Given the description of an element on the screen output the (x, y) to click on. 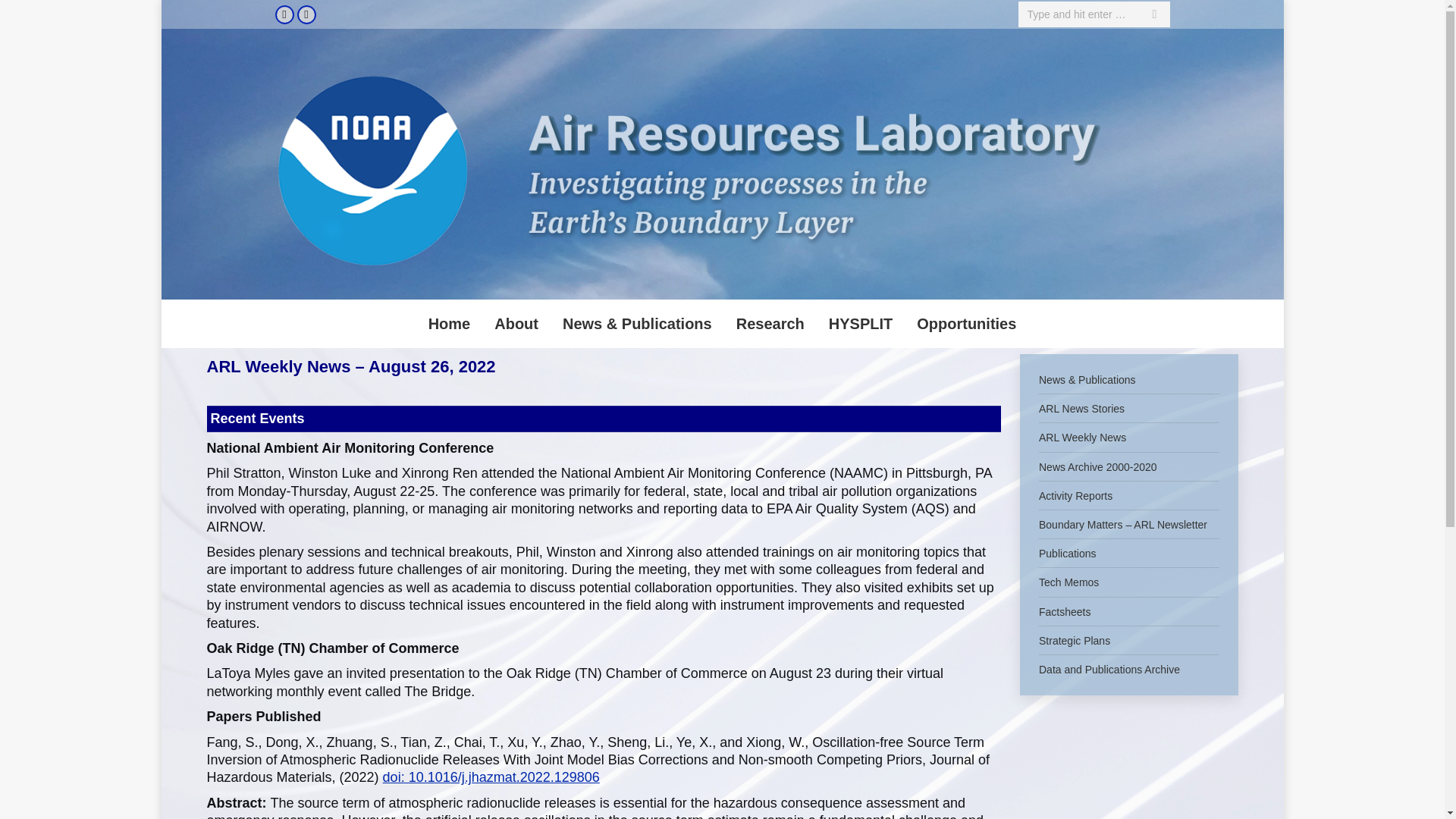
Search form (1093, 14)
About (516, 323)
Twitter page opens in new window (306, 13)
Twitter page opens in new window (306, 13)
Facebook page opens in new window (284, 13)
Research (770, 323)
Home (449, 323)
Facebook page opens in new window (284, 13)
